Given the description of an element on the screen output the (x, y) to click on. 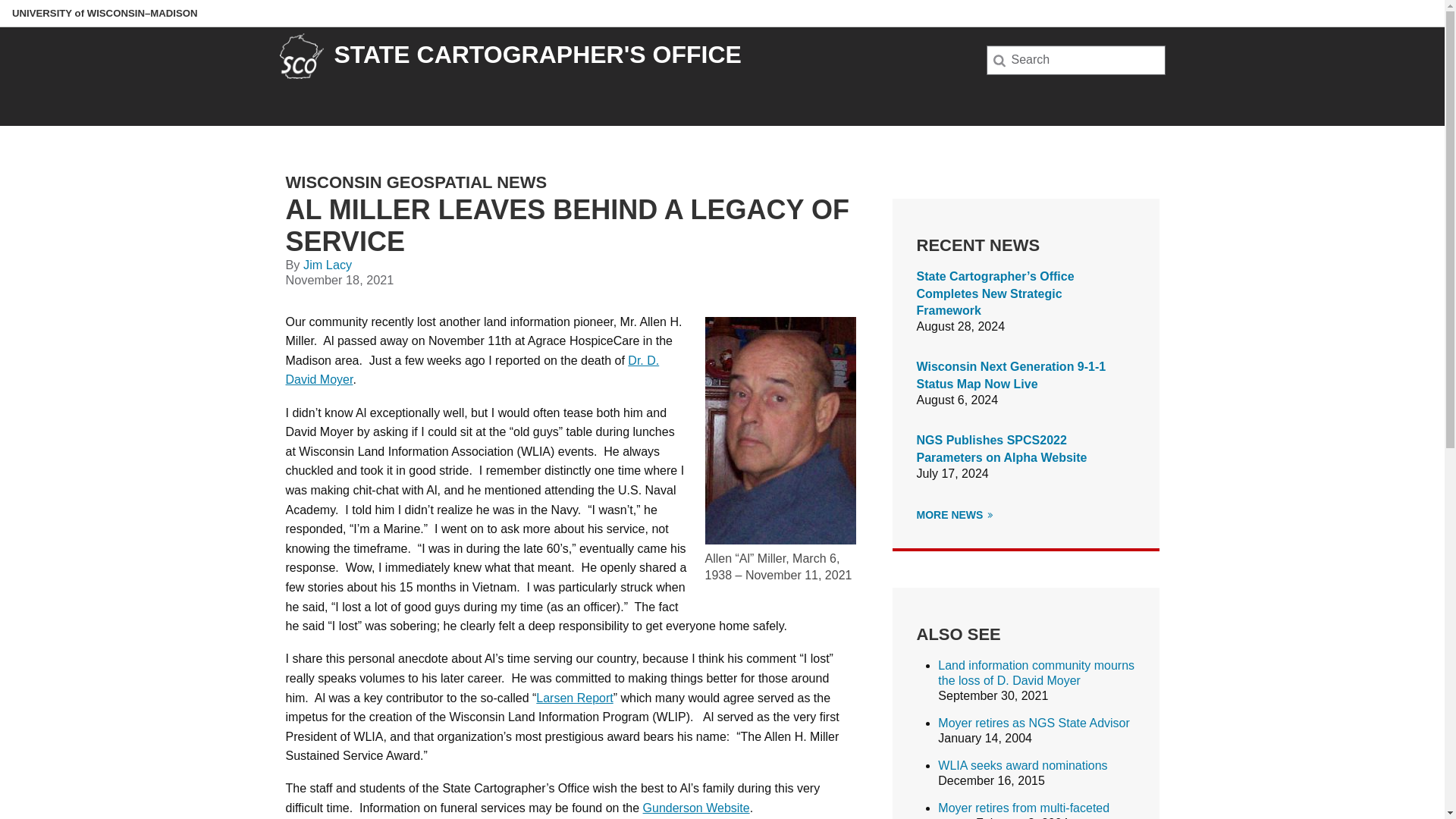
STATE CARTOGRAPHER'S OFFICE (537, 53)
MORE (989, 514)
Skip to main content (3, 3)
Search (37, 16)
